Given the description of an element on the screen output the (x, y) to click on. 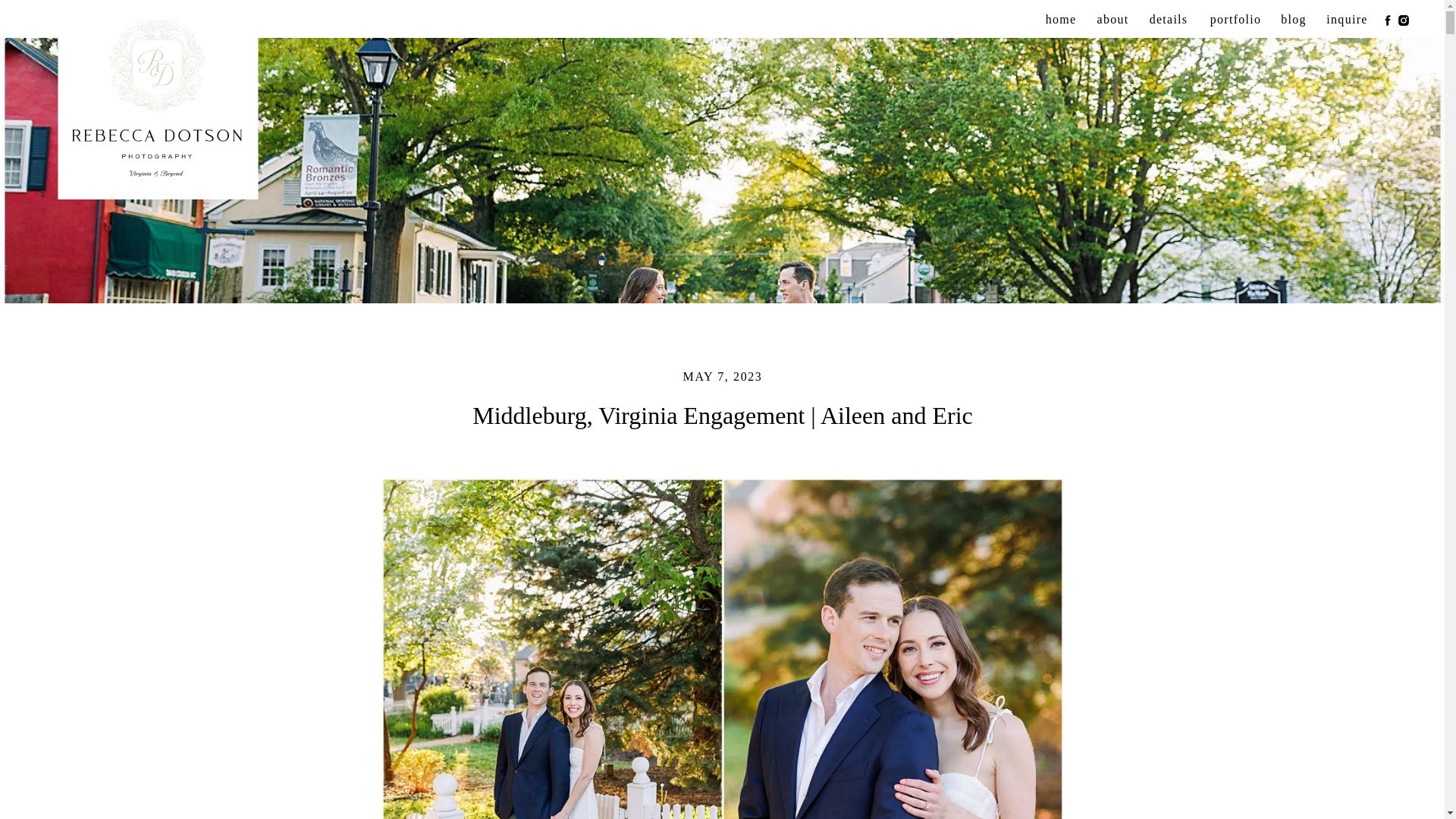
blog (1293, 20)
details (1169, 20)
inquire (1347, 20)
about (1112, 20)
portfolio (1235, 20)
home (1060, 20)
